Given the description of an element on the screen output the (x, y) to click on. 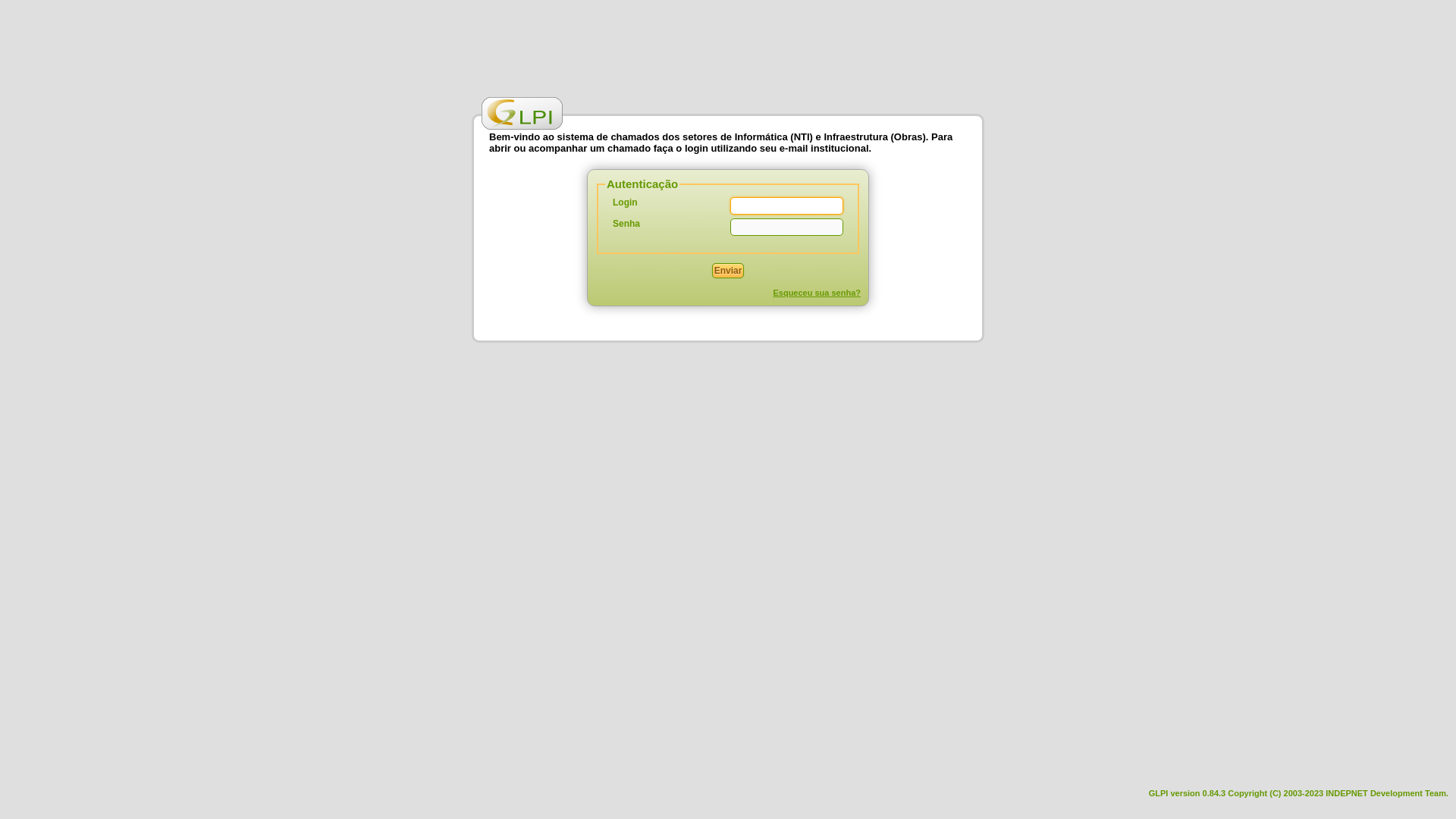
Esqueceu sua senha? Element type: text (816, 292)
Enviar Element type: text (728, 270)
